Given the description of an element on the screen output the (x, y) to click on. 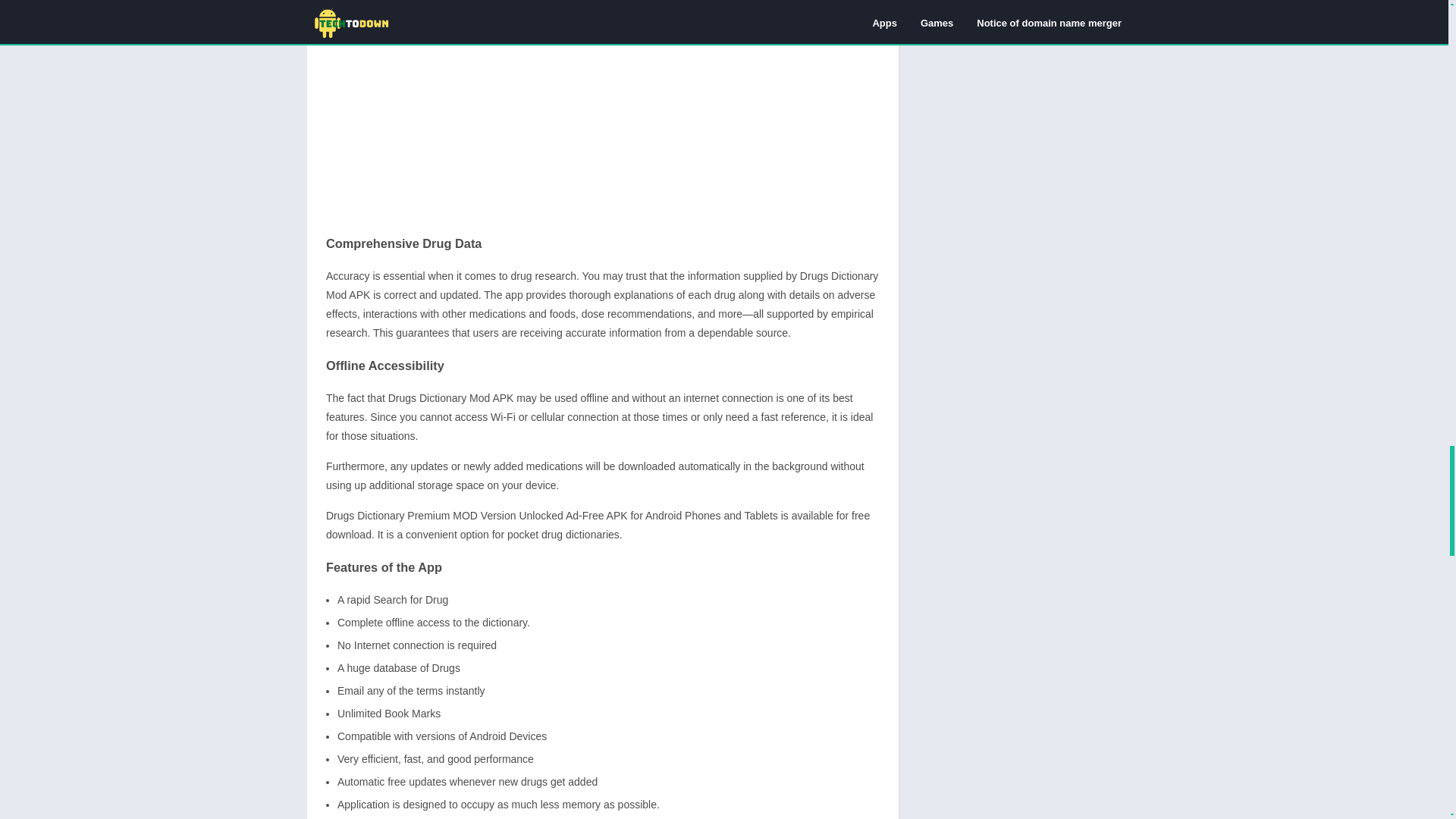
Drugs Dictionary OFFLINE 4 (602, 110)
